Given the description of an element on the screen output the (x, y) to click on. 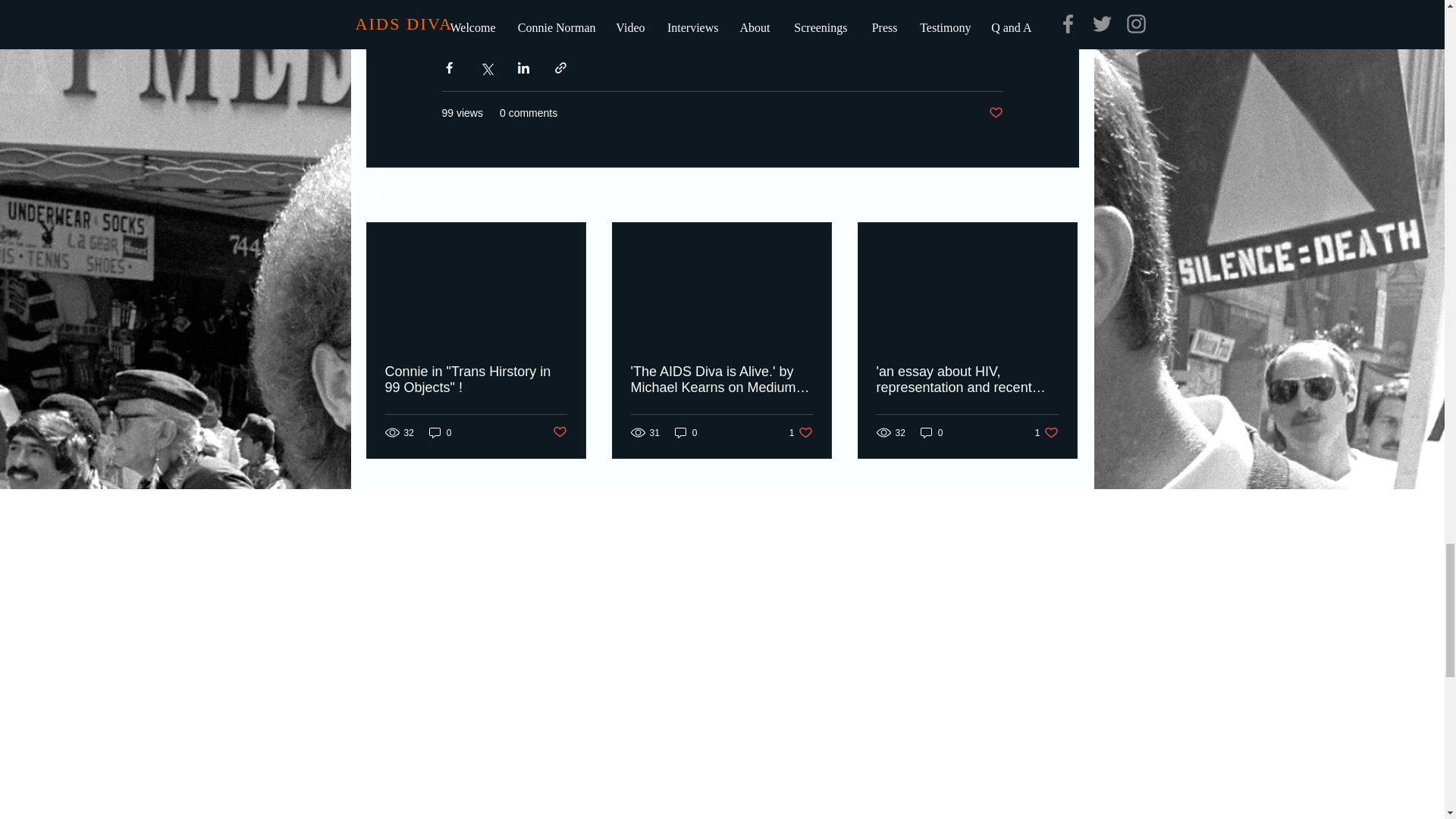
0 (440, 432)
Post not marked as liked (1046, 432)
0 (800, 432)
0 (995, 113)
Post not marked as liked (931, 432)
Connie in "Trans Hirstory in 99 Objects" ! (685, 432)
See All (558, 432)
